Given the description of an element on the screen output the (x, y) to click on. 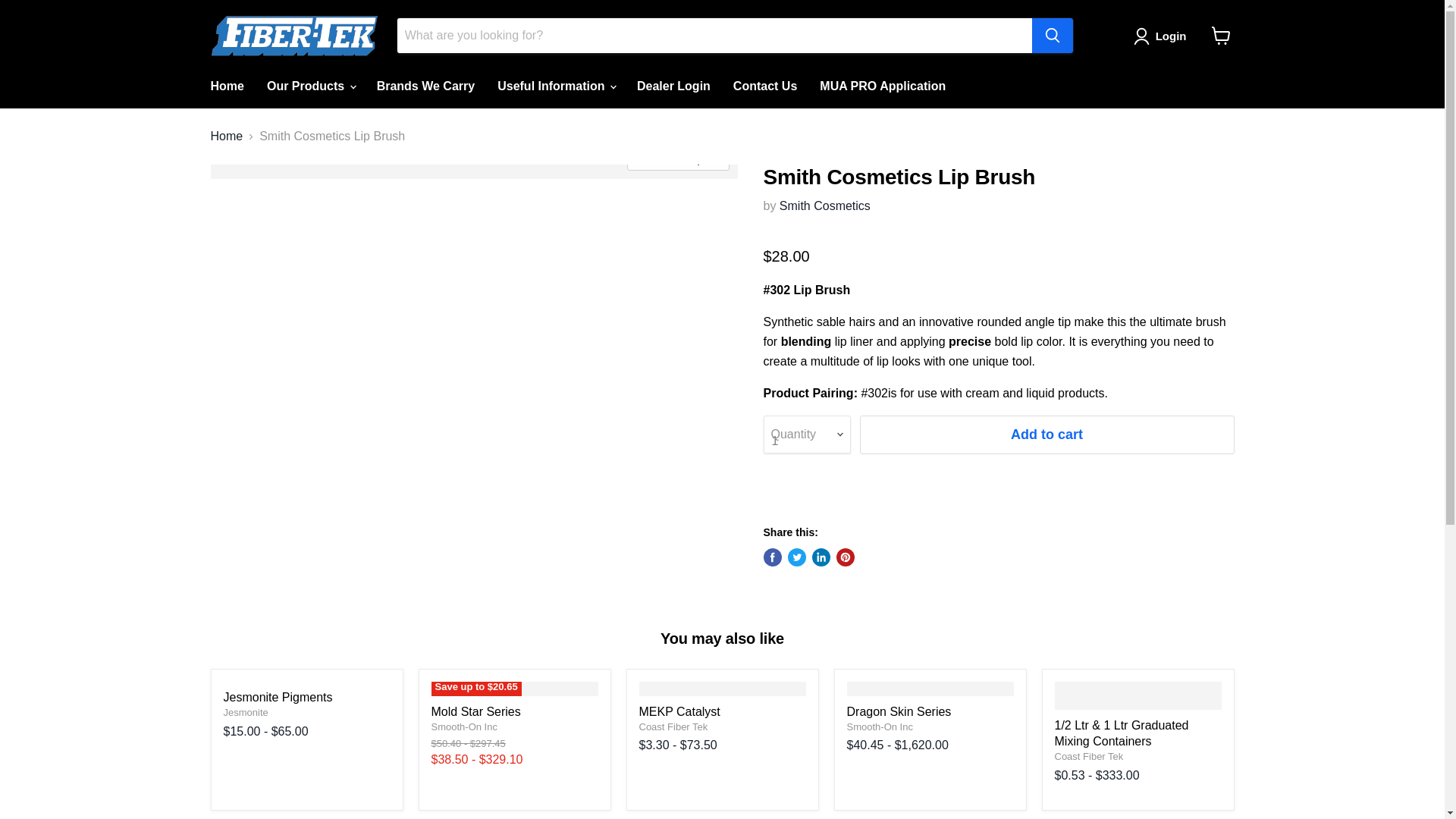
Brands We Carry (425, 86)
Coast Fiber Tek  (673, 726)
Dealer Login (674, 86)
Smooth-On Inc (878, 726)
MUA PRO Application (882, 86)
Smith Cosmetics (824, 205)
View cart (1221, 35)
Contact Us (765, 86)
Smooth-On Inc (463, 726)
Jesmonite (244, 712)
